Given the description of an element on the screen output the (x, y) to click on. 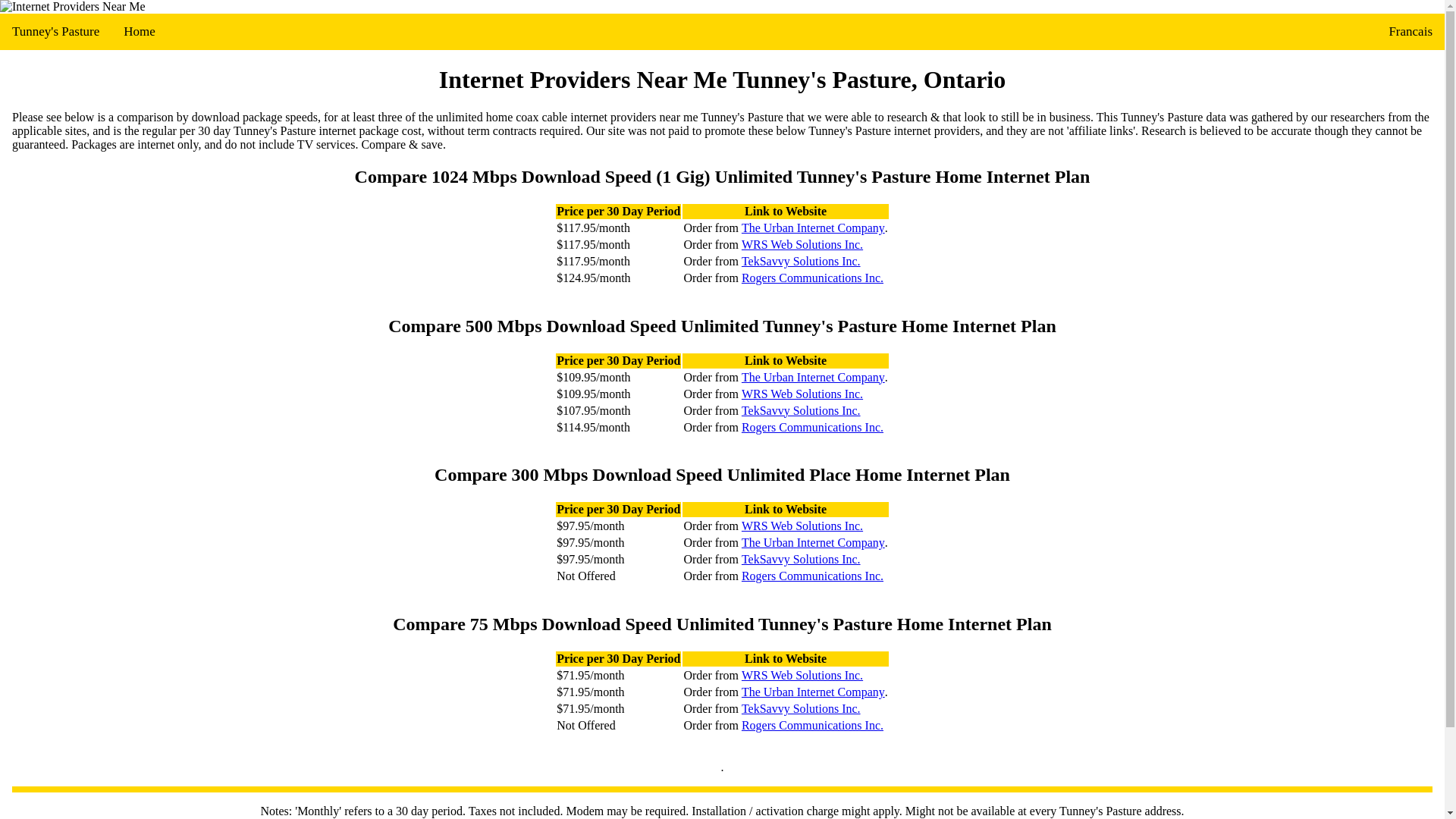
The Urban Internet Company (813, 228)
TekSavvy Solutions Inc. (800, 559)
Rogers Communications Inc. (812, 576)
TekSavvy Solutions Inc. (800, 261)
TekSavvy Solutions Inc. (800, 708)
Tunney's Pasture (56, 31)
WRS Web Solutions Inc. (802, 526)
The Urban Internet Company (813, 542)
WRS Web Solutions Inc. (802, 244)
TekSavvy Solutions Inc. (800, 409)
